Given the description of an element on the screen output the (x, y) to click on. 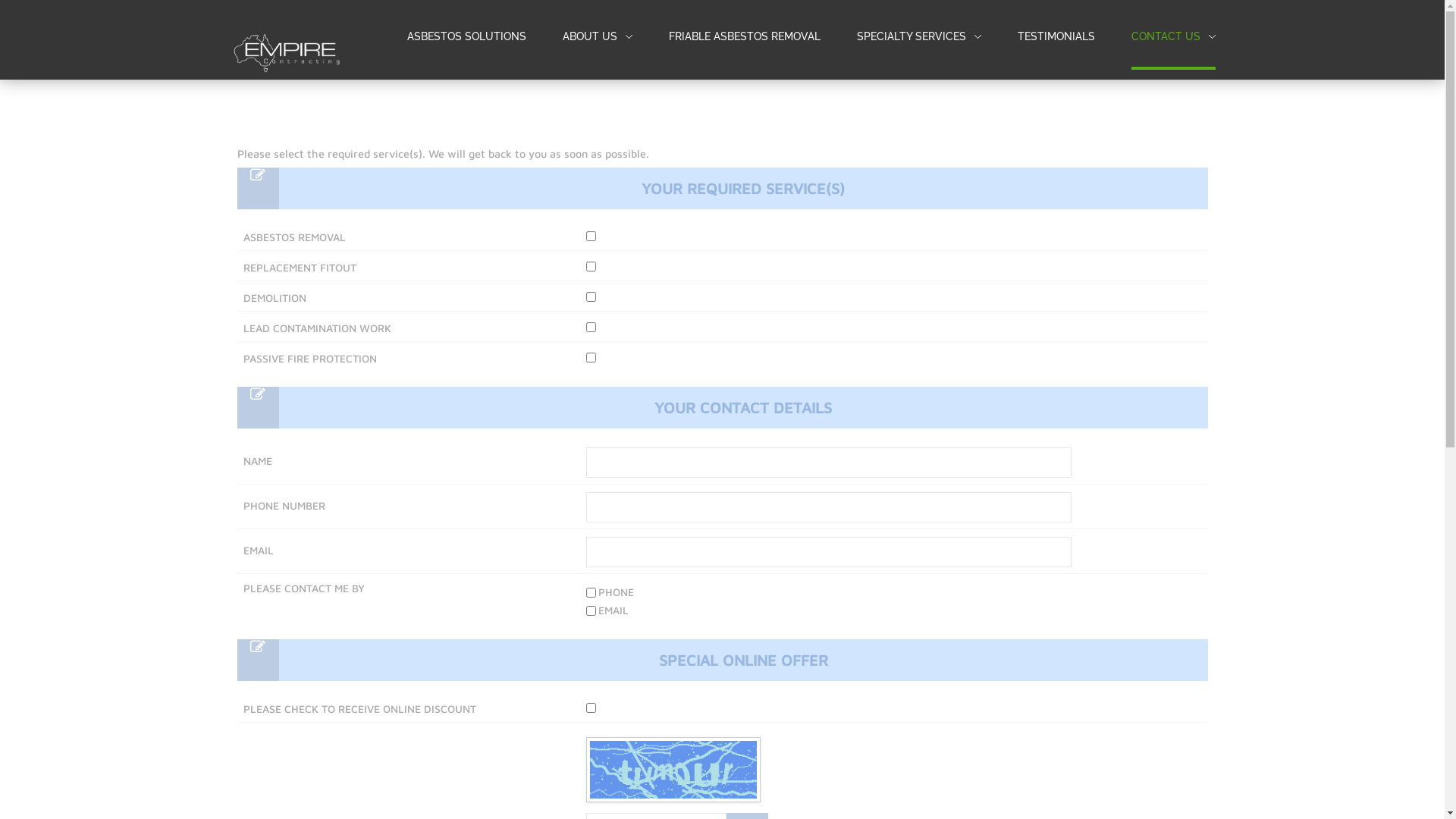
SPECIALTY SERVICES Element type: text (918, 37)
ASBESTOS SOLUTIONS Element type: text (465, 37)
ASBESTOS SOLUTIONS Element type: text (465, 36)
SPECIALTY SERVICES Element type: text (911, 36)
FRIABLE ASBESTOS REMOVAL Element type: text (744, 37)
ABOUT US Element type: text (589, 36)
CONTACT US Element type: text (1173, 37)
ABOUT US Element type: text (597, 37)
TESTIMONIALS Element type: text (1056, 37)
TESTIMONIALS Element type: text (1056, 36)
CONTACT US Element type: text (1165, 36)
FRIABLE ASBESTOS REMOVAL Element type: text (744, 36)
